Given the description of an element on the screen output the (x, y) to click on. 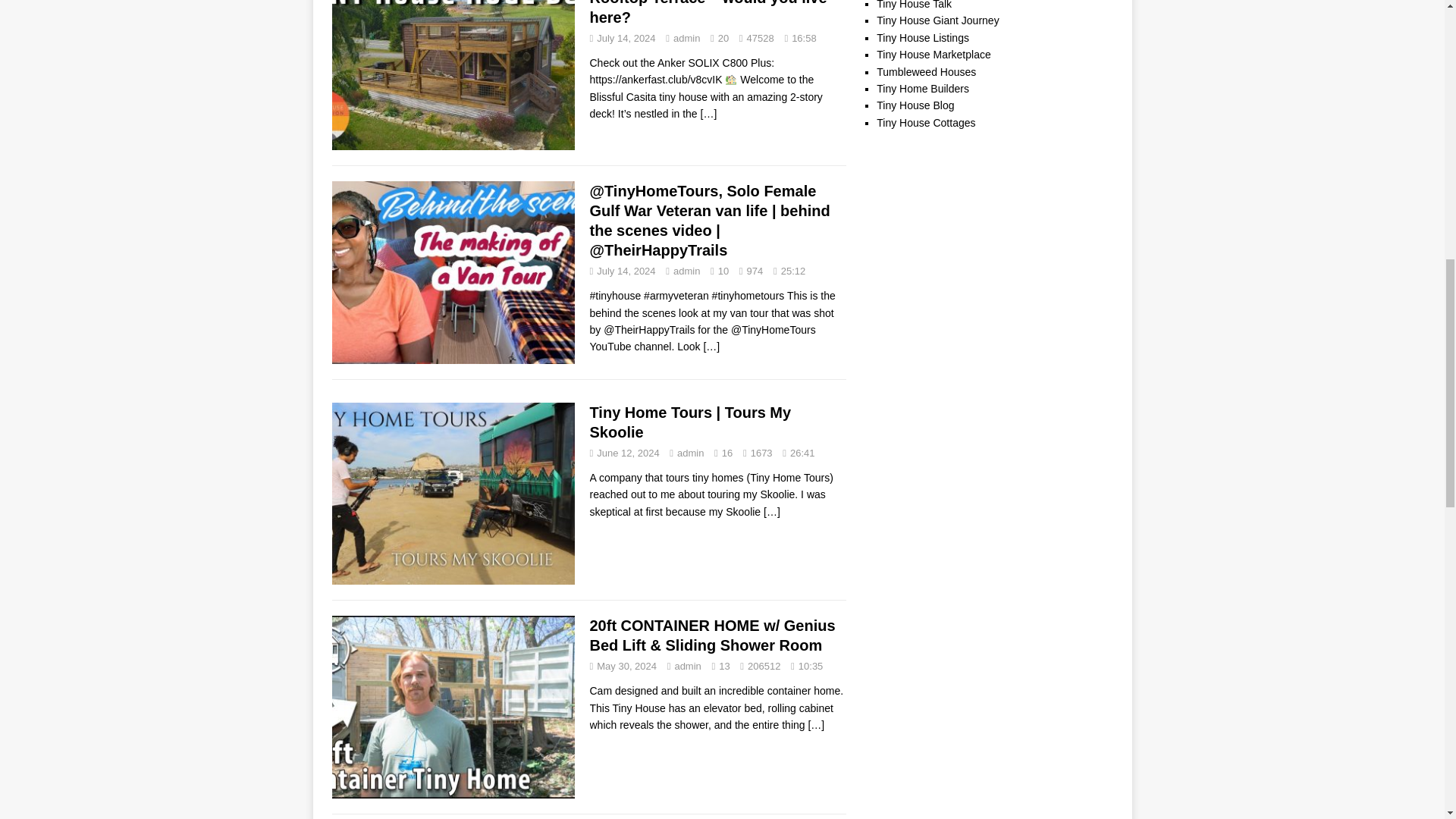
admin (687, 665)
16 (727, 452)
10 (723, 270)
admin (686, 38)
admin (686, 270)
20 (723, 38)
13 (724, 665)
admin (690, 452)
